Given the description of an element on the screen output the (x, y) to click on. 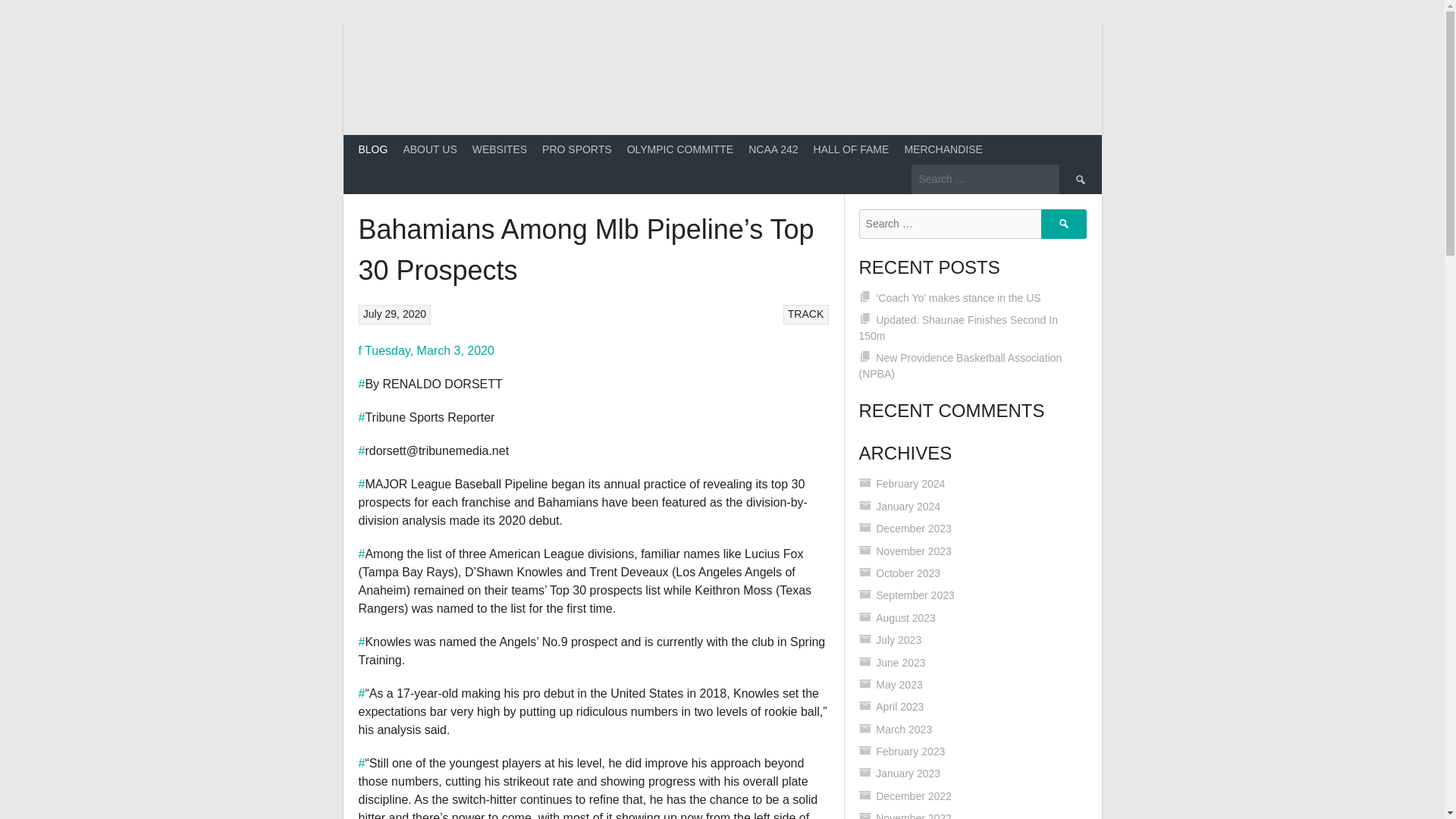
PRO SPORTS (577, 149)
BLOG (372, 149)
WEBSITES (499, 149)
ABOUT US (429, 149)
Search (1063, 224)
Search (1079, 178)
